Given the description of an element on the screen output the (x, y) to click on. 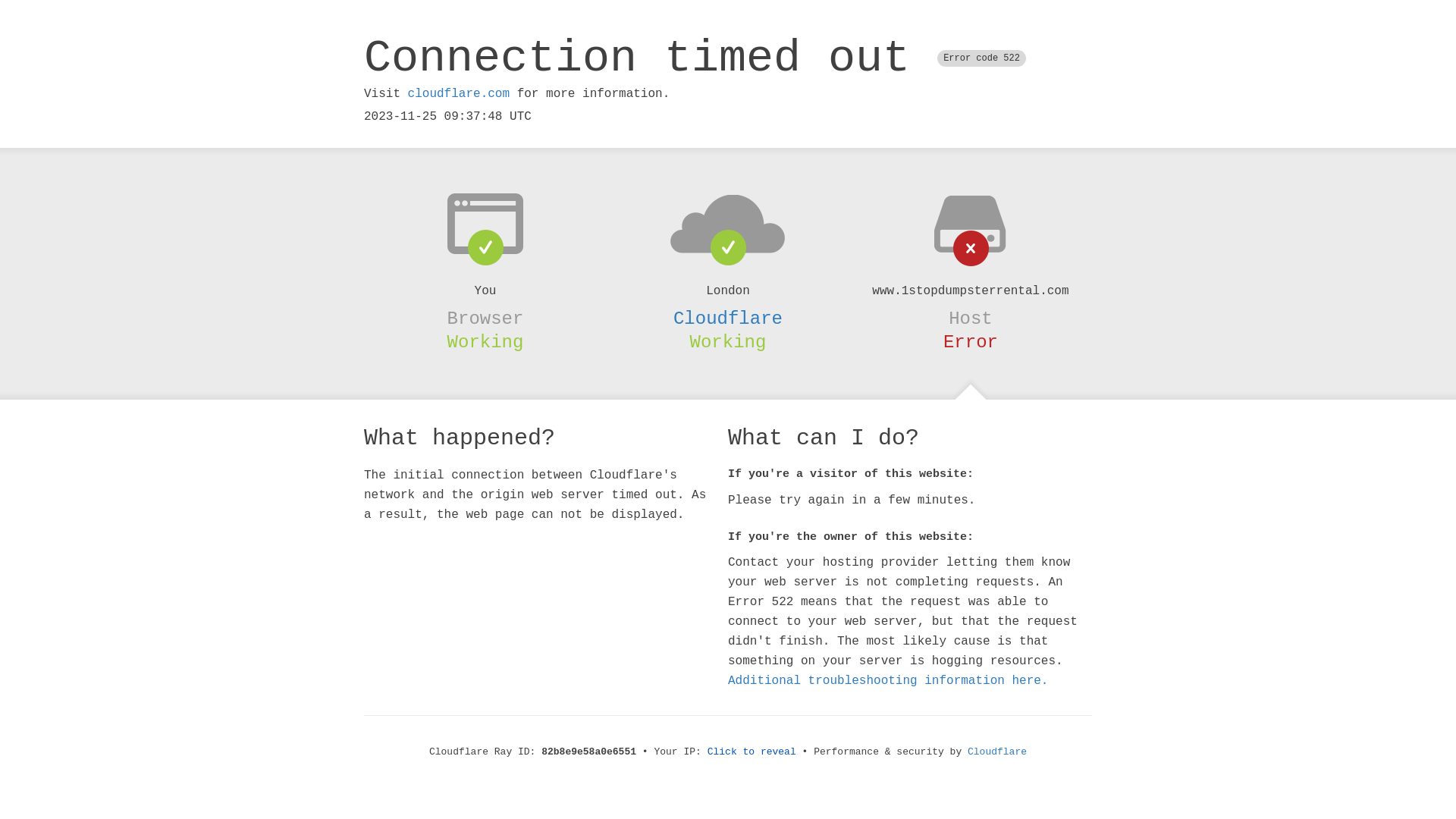
Cloudflare Element type: text (996, 751)
cloudflare.com Element type: text (458, 93)
Click to reveal Element type: text (751, 751)
Additional troubleshooting information here. Element type: text (888, 680)
Cloudflare Element type: text (727, 318)
